Given the description of an element on the screen output the (x, y) to click on. 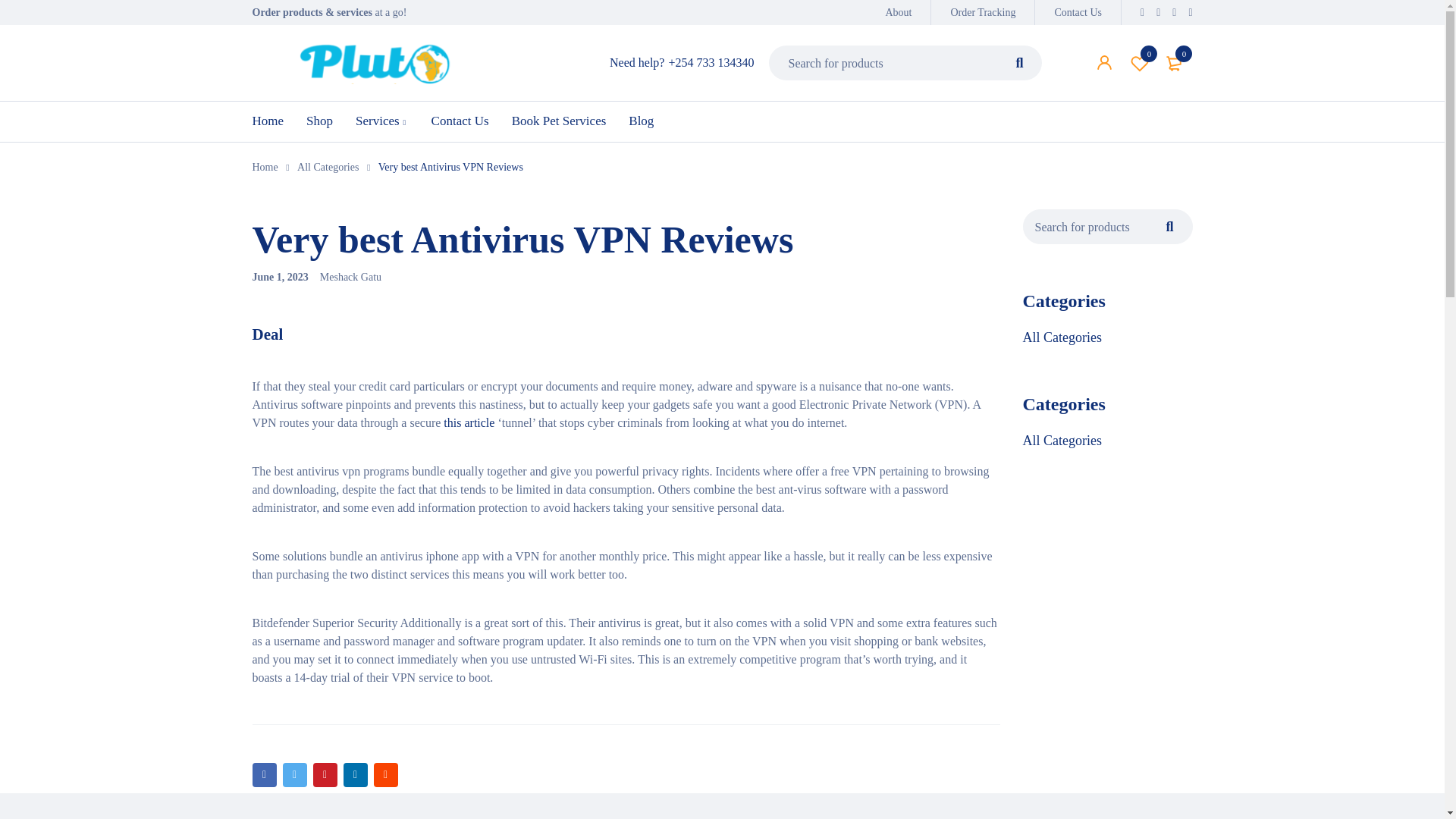
Search (1018, 62)
View your shopping cart (1174, 62)
Pluto Pets (373, 63)
Wishlist (1139, 62)
Contact Us (1078, 12)
0 (1174, 62)
Search (1139, 62)
Order Tracking (1018, 62)
Posts by Meshack Gatu (982, 12)
